Given the description of an element on the screen output the (x, y) to click on. 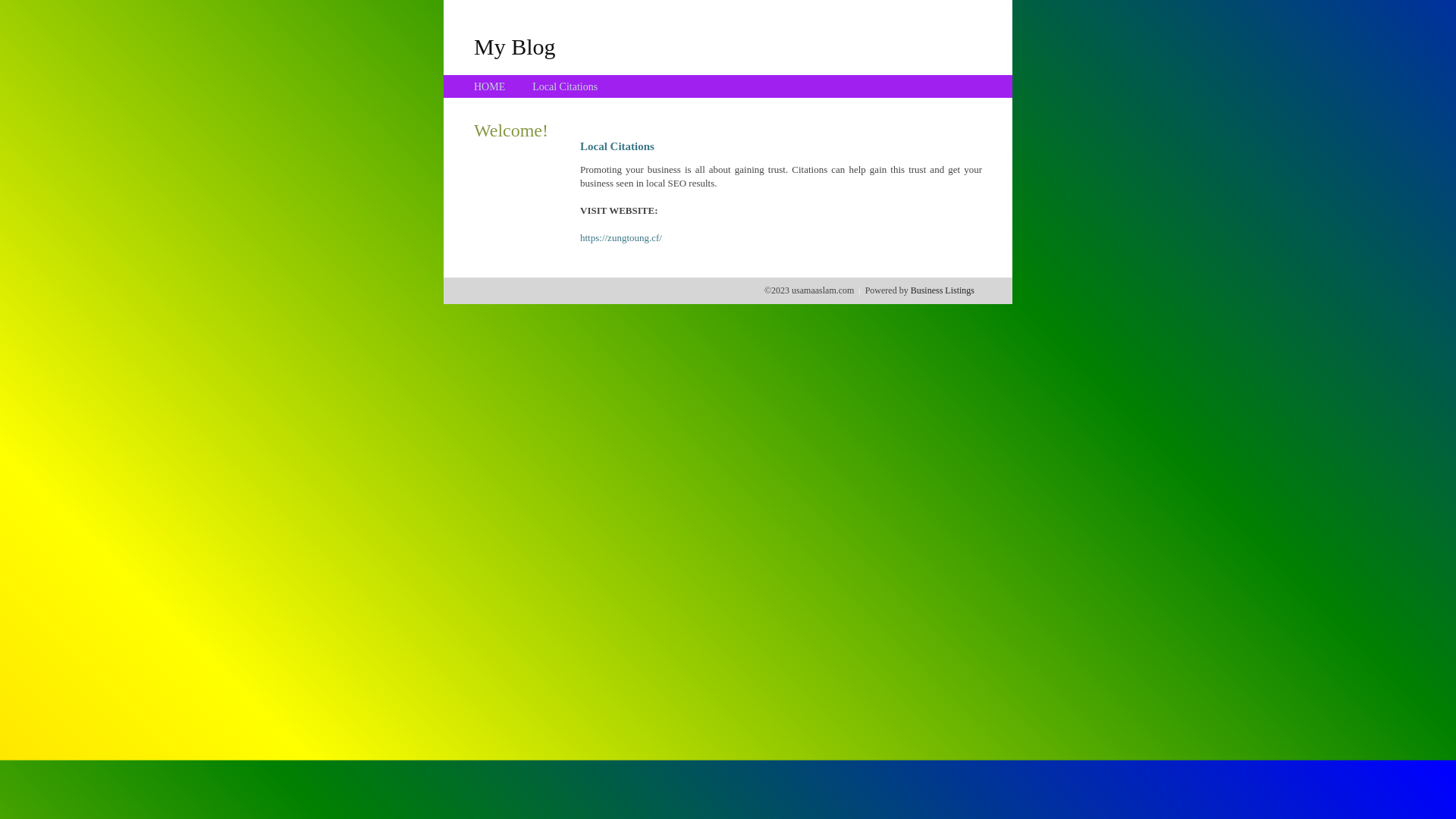
HOME Element type: text (489, 86)
https://zungtoung.cf/ Element type: text (621, 237)
My Blog Element type: text (514, 46)
Local Citations Element type: text (564, 86)
Business Listings Element type: text (942, 290)
